Given the description of an element on the screen output the (x, y) to click on. 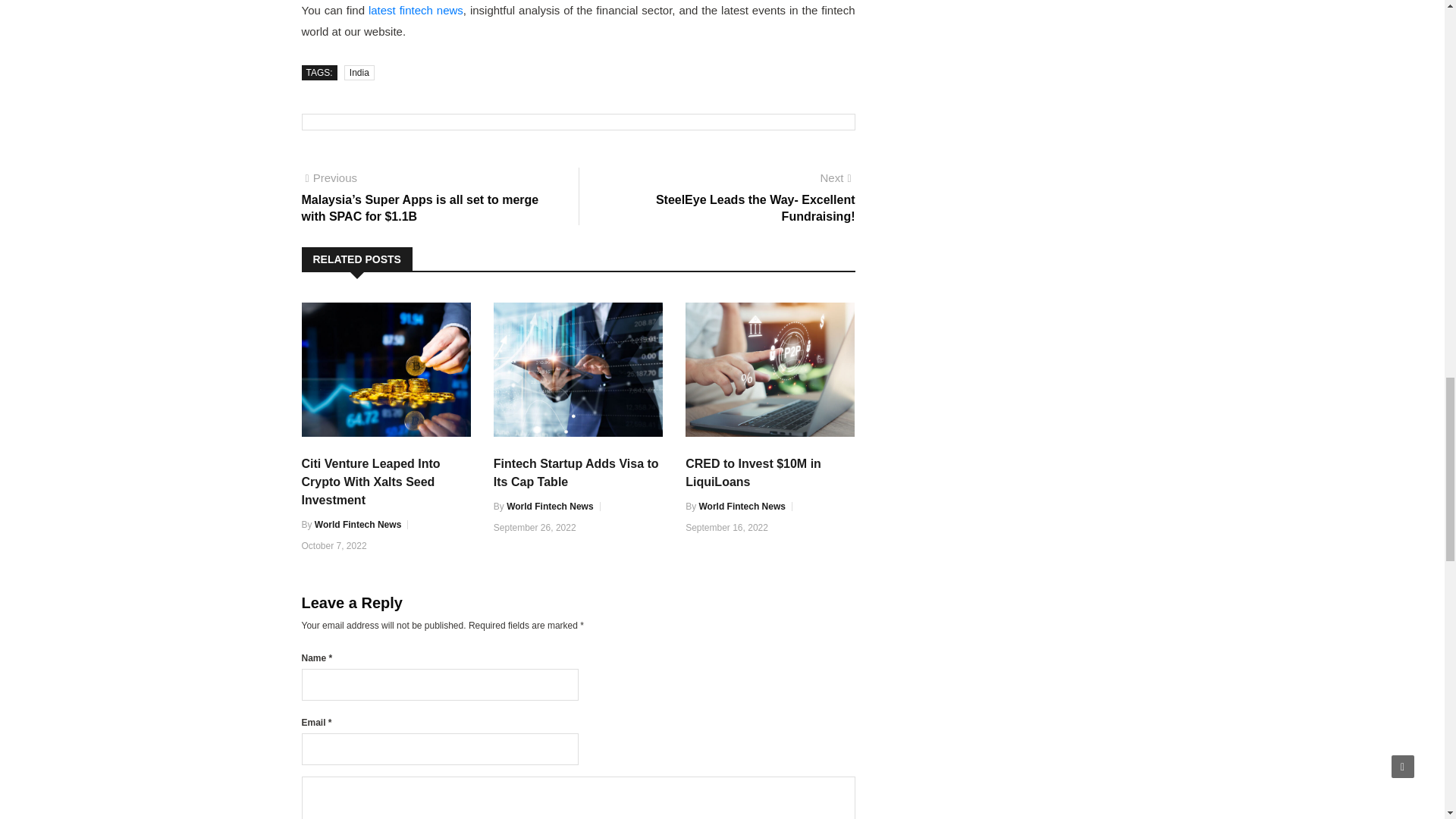
India (358, 72)
latest fintech news (415, 10)
